Given the description of an element on the screen output the (x, y) to click on. 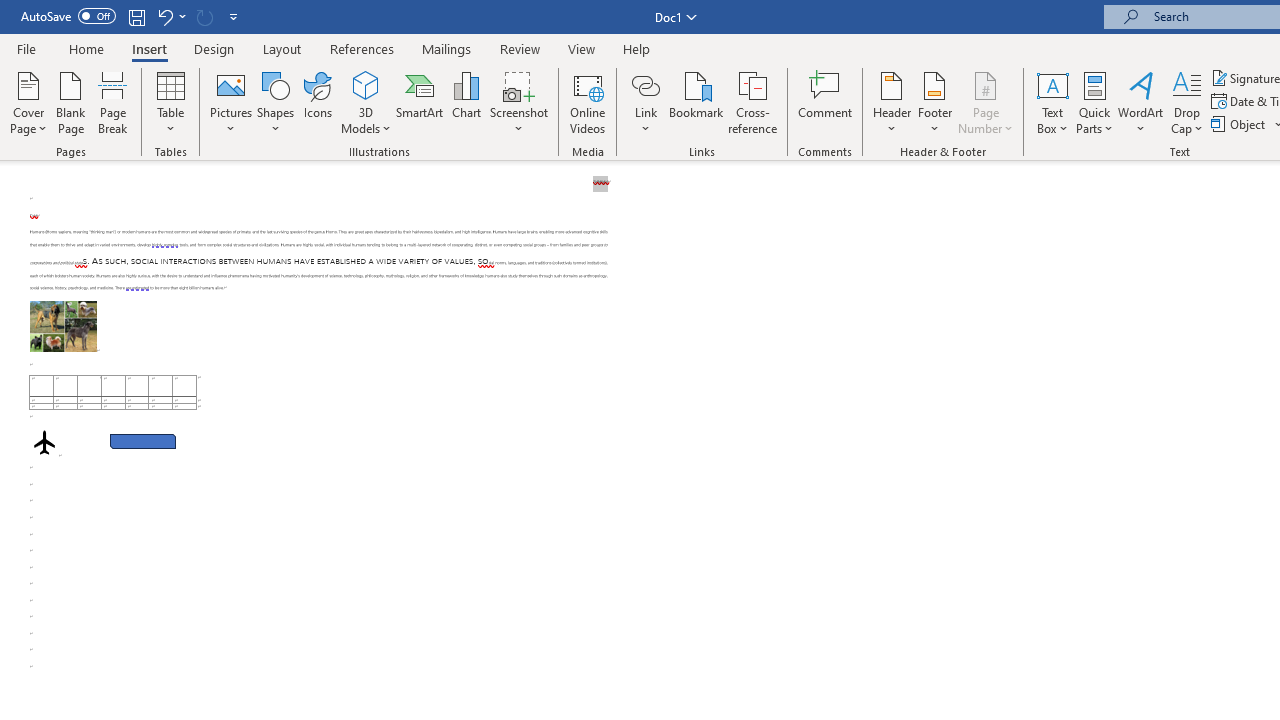
Undo Apply Quick Style Set (170, 15)
Rectangle: Diagonal Corners Snipped 2 (143, 441)
Object... (1240, 124)
Online Videos... (588, 102)
Footer (934, 102)
WordArt (1141, 102)
Link (645, 102)
Airplane with solid fill (43, 442)
Header (891, 102)
Undo Apply Quick Style Set (164, 15)
Blank Page (70, 102)
